Given the description of an element on the screen output the (x, y) to click on. 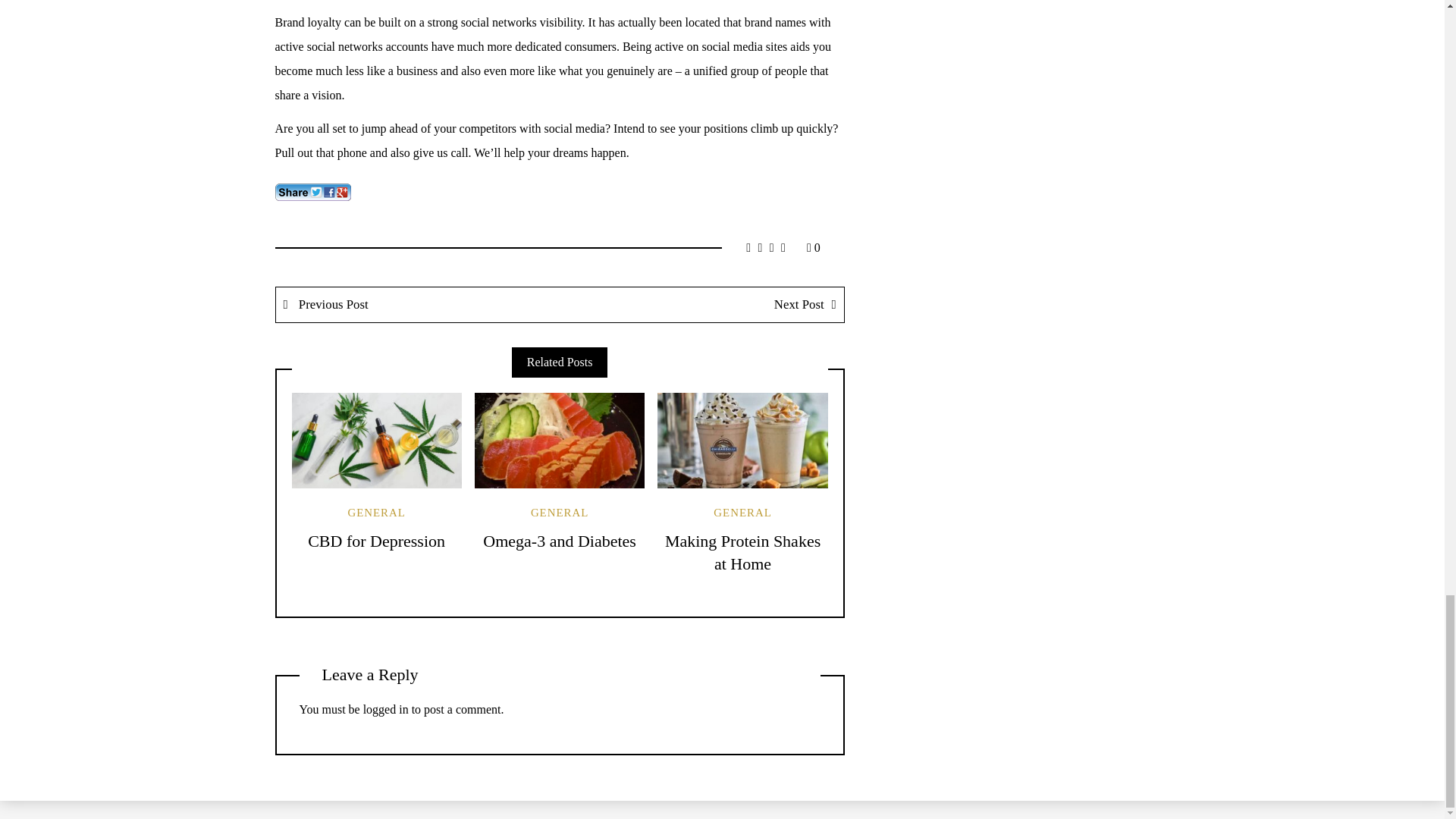
Permalink to: "Omega-3 and Diabetes" (559, 440)
0 (813, 246)
CBD for Depression (376, 540)
Making Protein Shakes at Home (743, 552)
Permalink to: "CBD for Depression" (376, 440)
GENERAL (375, 512)
Next Post (701, 304)
Permalink to: "Making Protein Shakes at Home" (742, 440)
Omega-3 and Diabetes (559, 540)
Previous Post (418, 304)
